Given the description of an element on the screen output the (x, y) to click on. 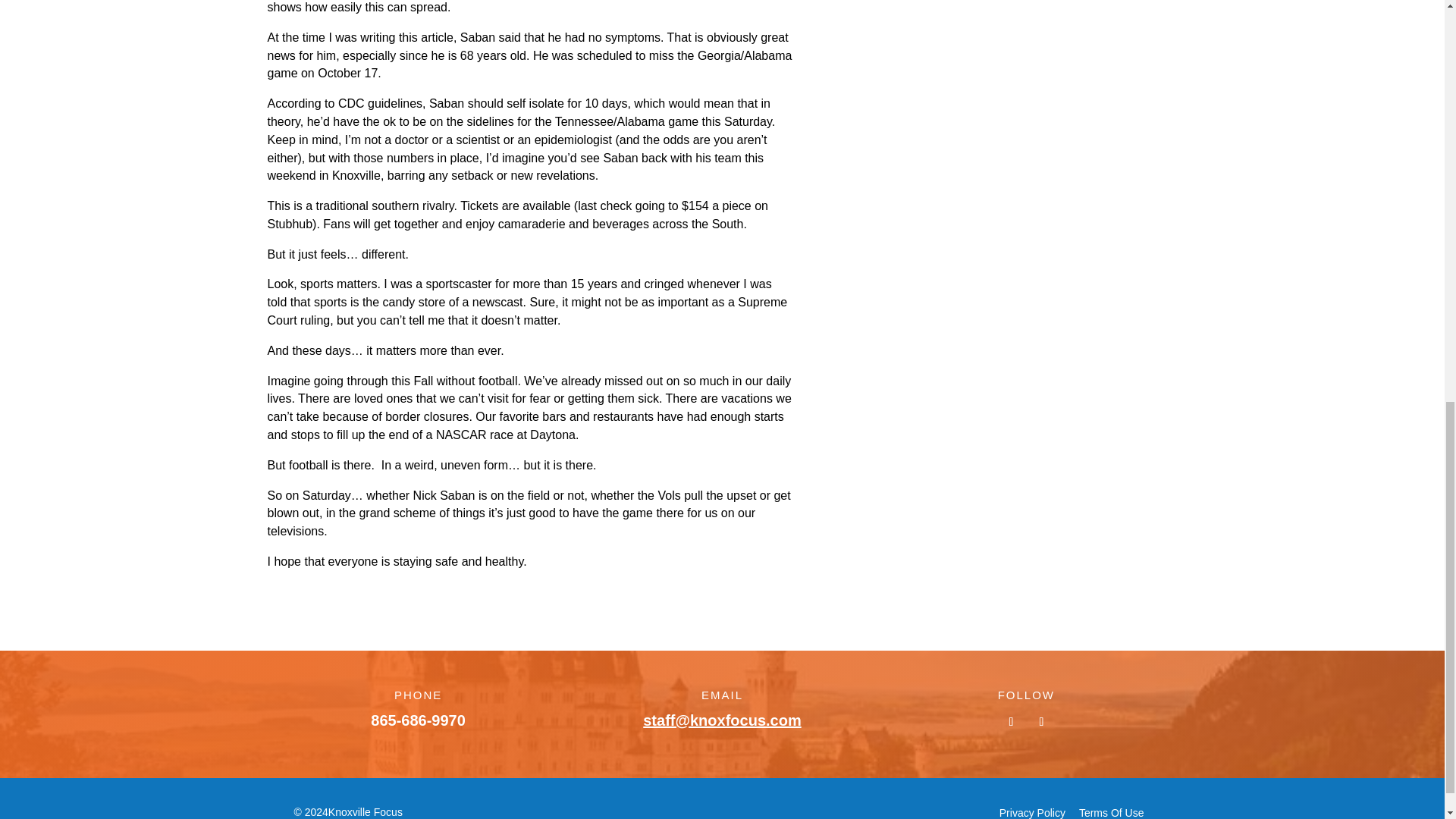
Follow on X (1040, 721)
Follow on Facebook (1010, 721)
